Given the description of an element on the screen output the (x, y) to click on. 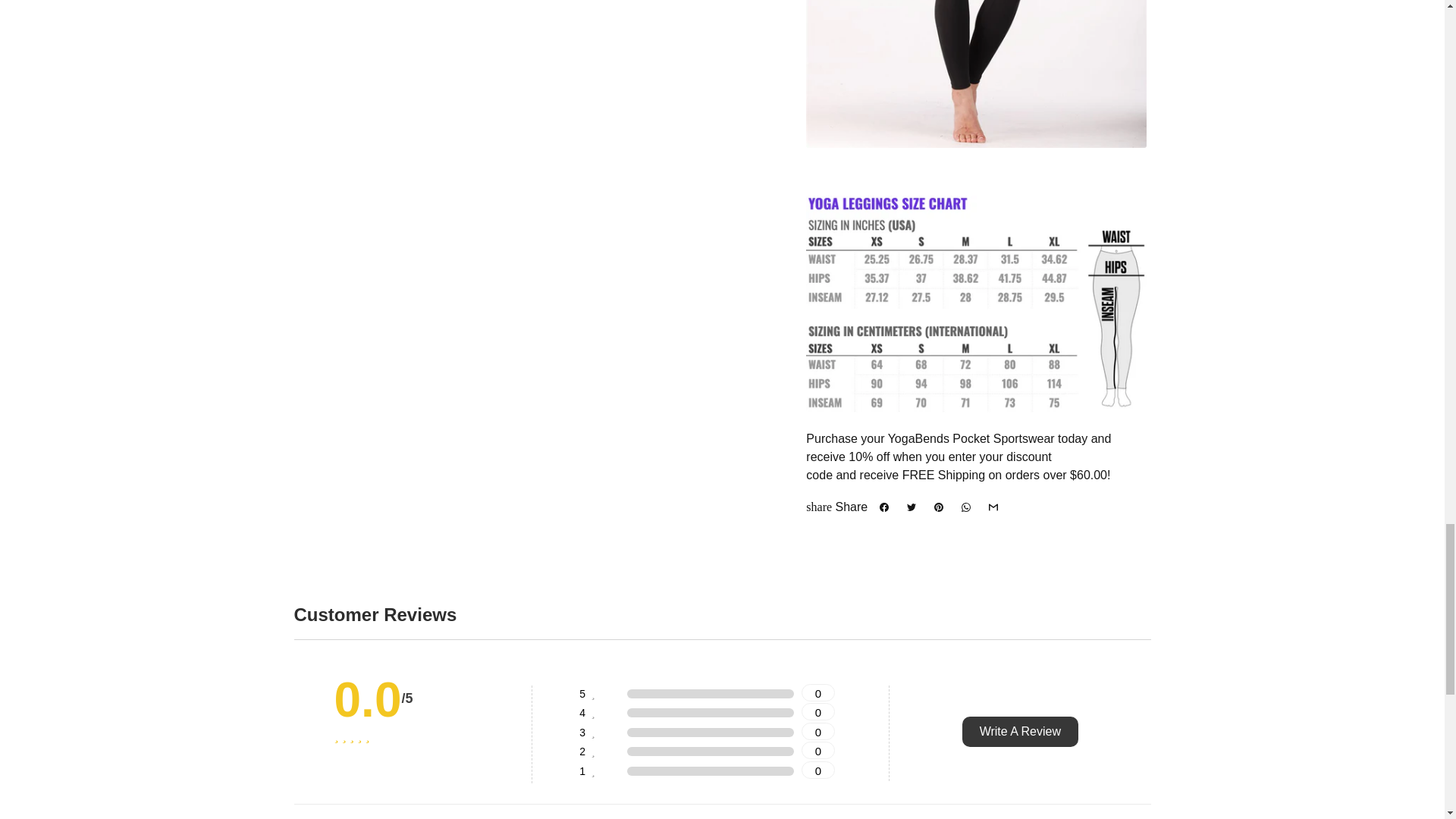
Share by Email (993, 506)
Tweet on Twitter (911, 506)
Share on Facebook (884, 506)
Pin on Pinterest (938, 506)
Share on Whatsapp (965, 506)
